Given the description of an element on the screen output the (x, y) to click on. 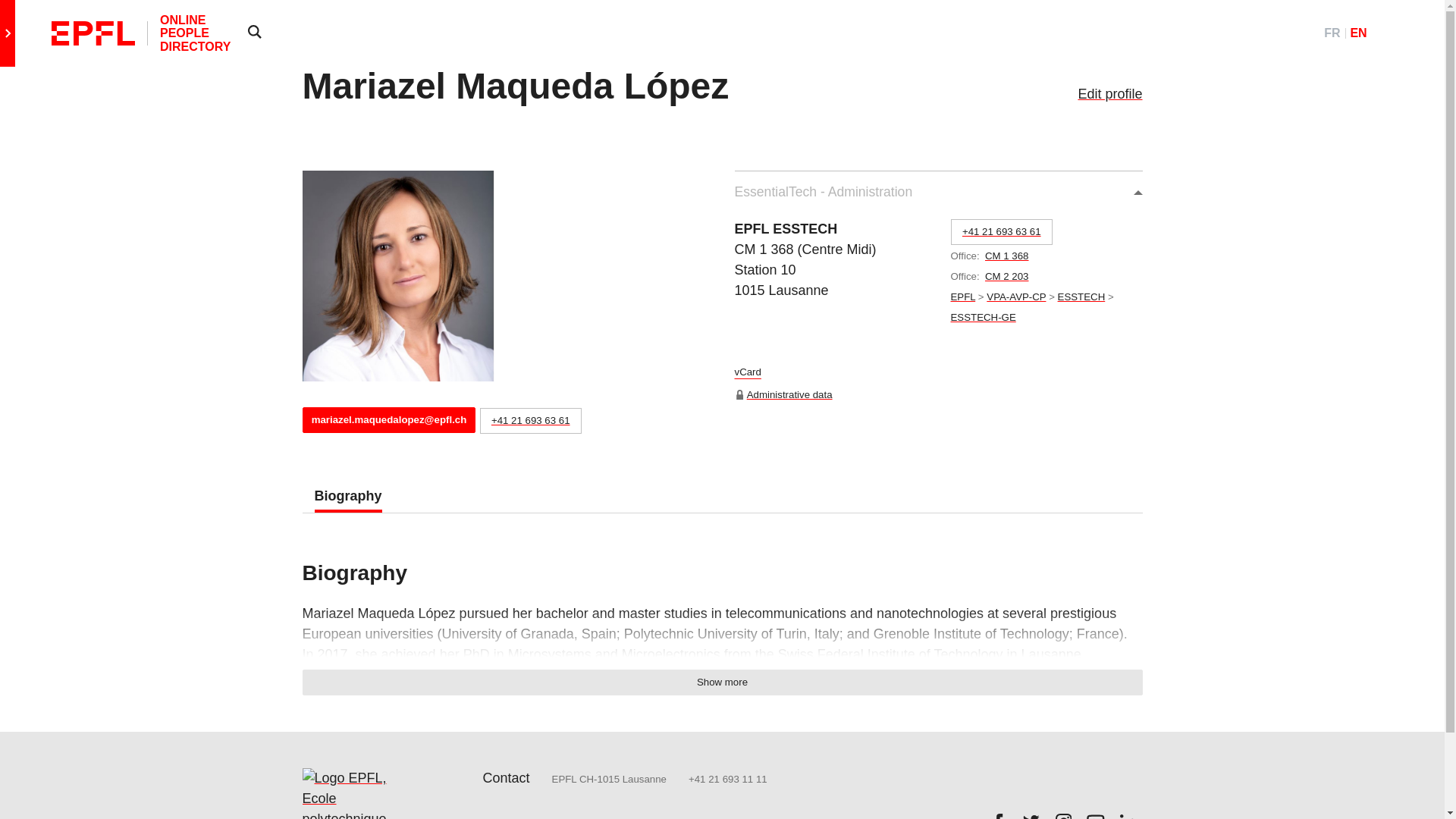
Follow us on Facebook. (998, 813)
Follow us on Youtube. (1095, 813)
vCard (746, 374)
Biography (347, 495)
Follow us on Twitter. (1030, 813)
Administrative data (789, 394)
Show more (721, 682)
CM 2 203 (1007, 276)
CM 1 368 (1007, 255)
VPA-AVP-CP (1016, 296)
ESSTECH-GE (983, 317)
Follow us on LinkedIn. (1127, 813)
EPFL (962, 296)
ESSTECH (1081, 296)
Follow us on Instagram. (1063, 813)
